Given the description of an element on the screen output the (x, y) to click on. 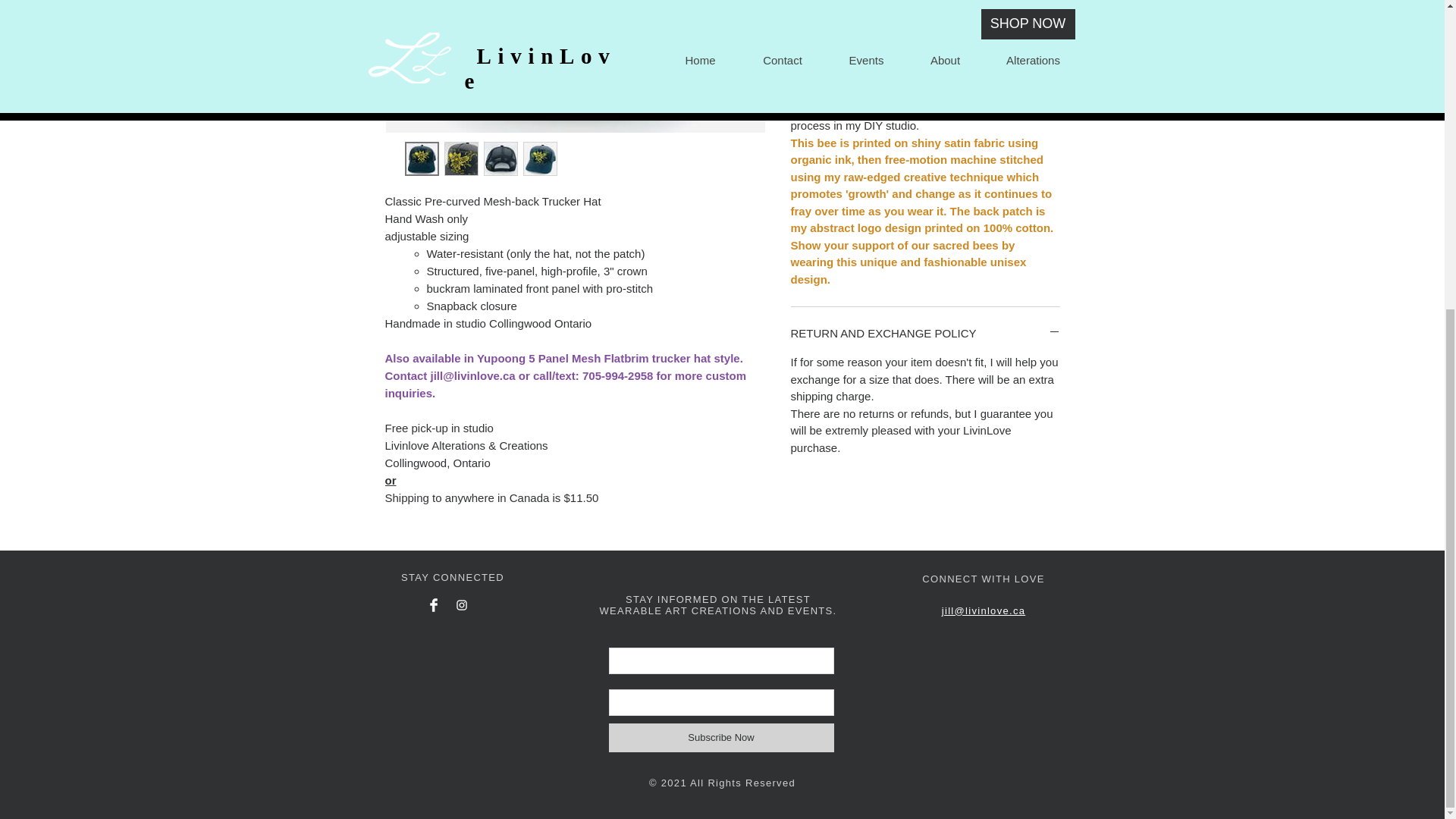
RETURN AND EXCHANGE POLICY (924, 333)
Subscribe Now (720, 737)
